Given the description of an element on the screen output the (x, y) to click on. 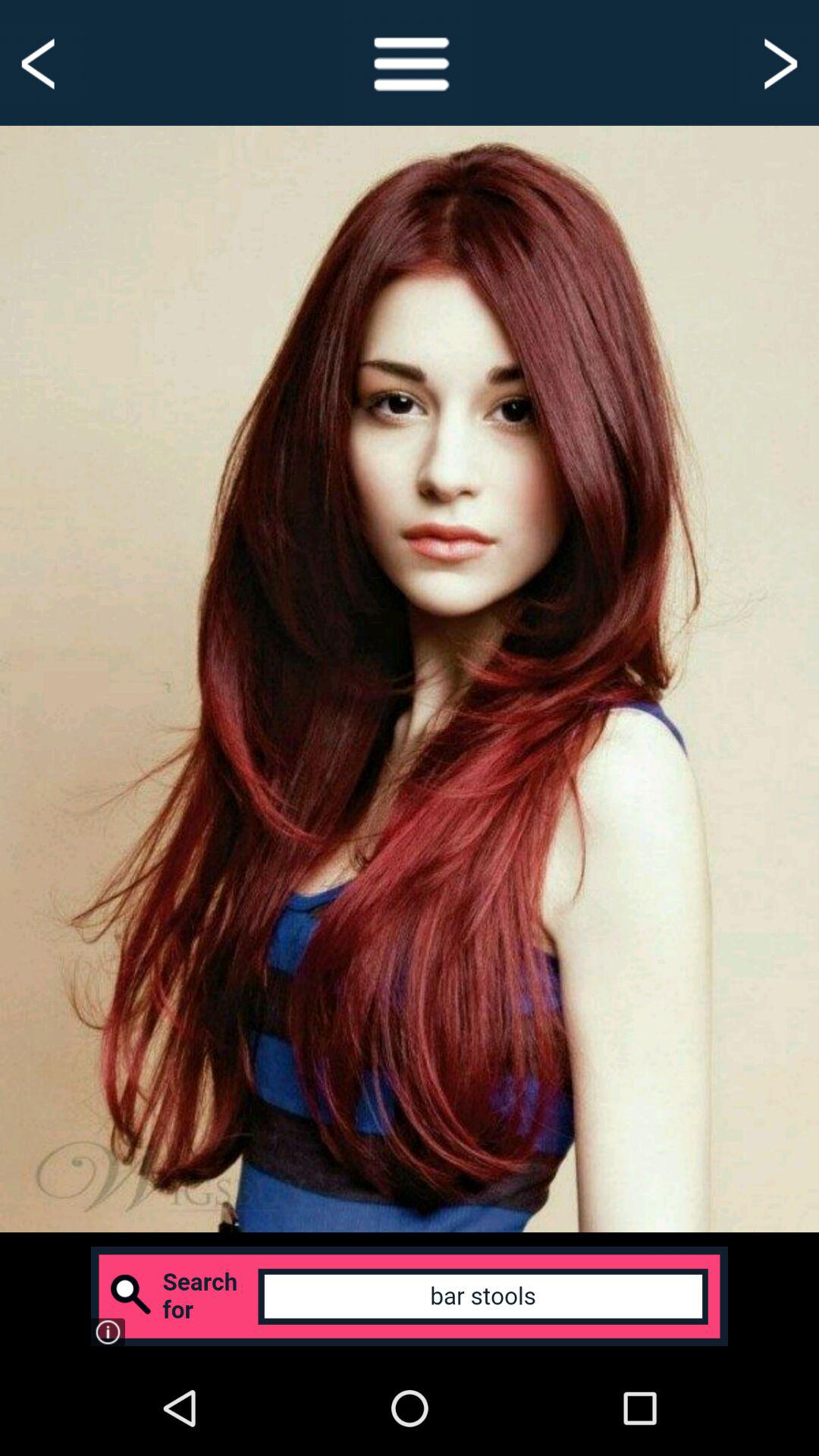
go to previous screen (40, 62)
